Given the description of an element on the screen output the (x, y) to click on. 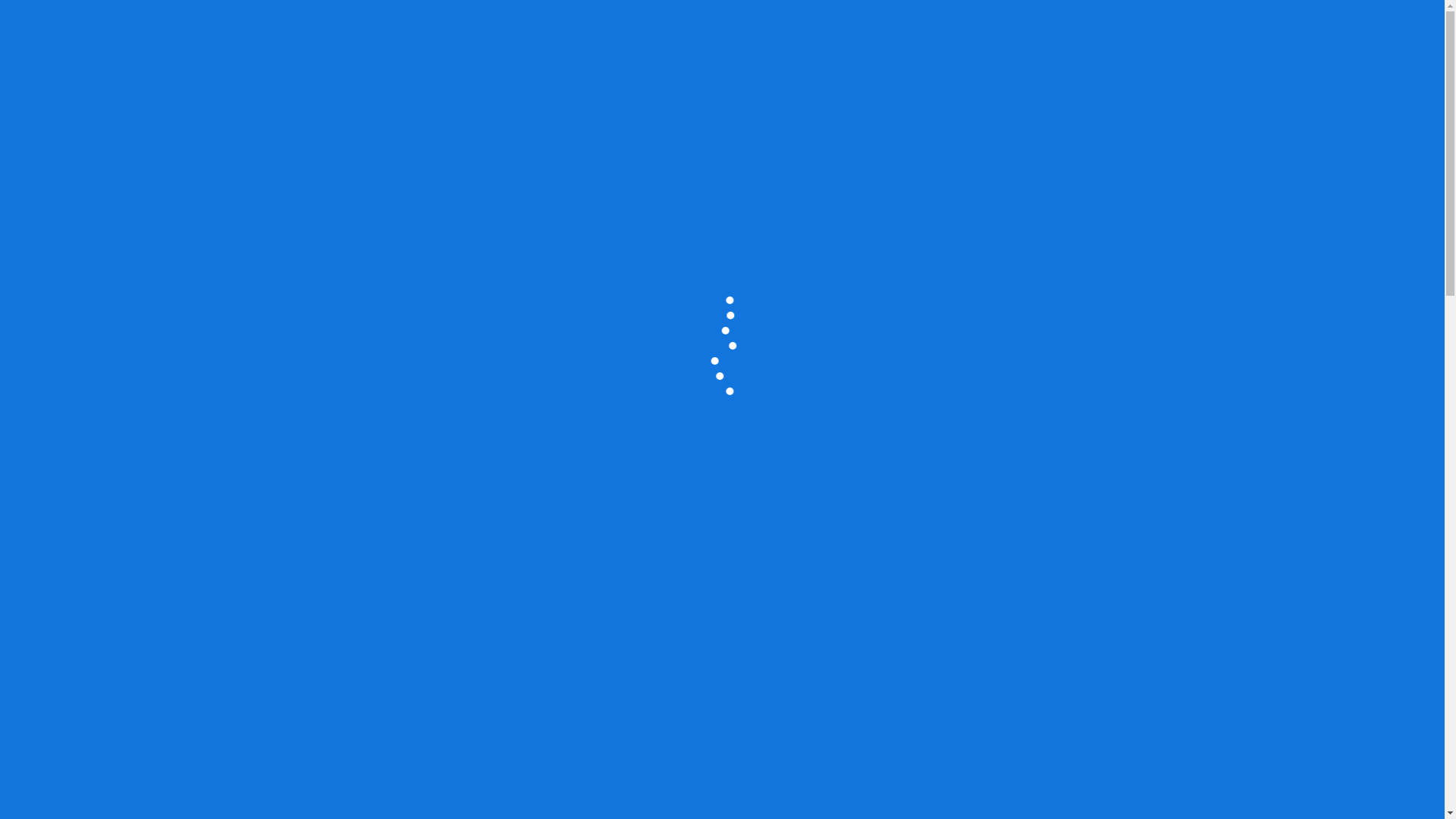
+375 29 190-10-38 Element type: text (53, 71)
sisea.search Element type: text (12, 457)
sisea.search Element type: text (12, 368)
